Given the description of an element on the screen output the (x, y) to click on. 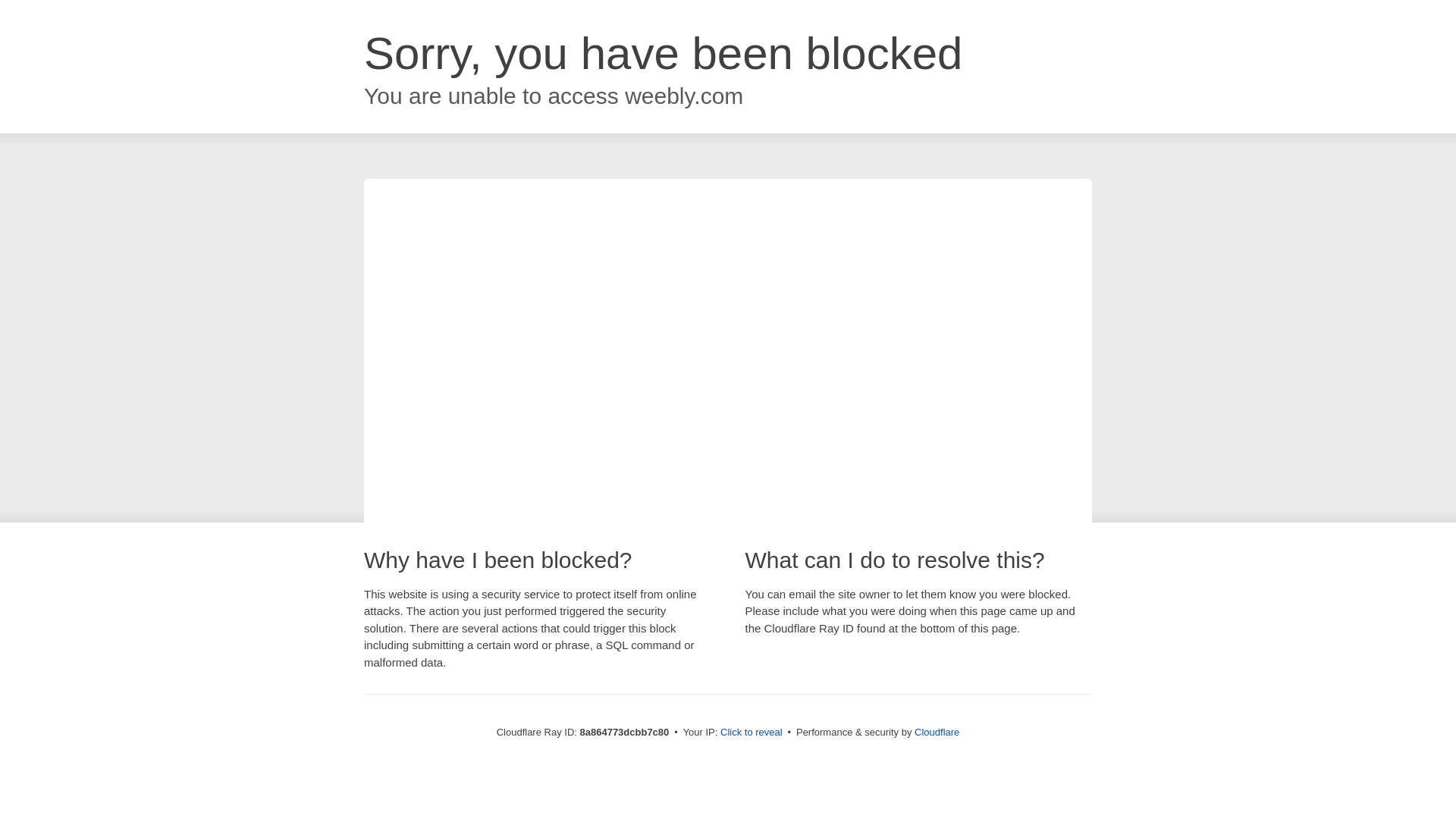
Cloudflare (936, 731)
Click to reveal (751, 732)
